Given the description of an element on the screen output the (x, y) to click on. 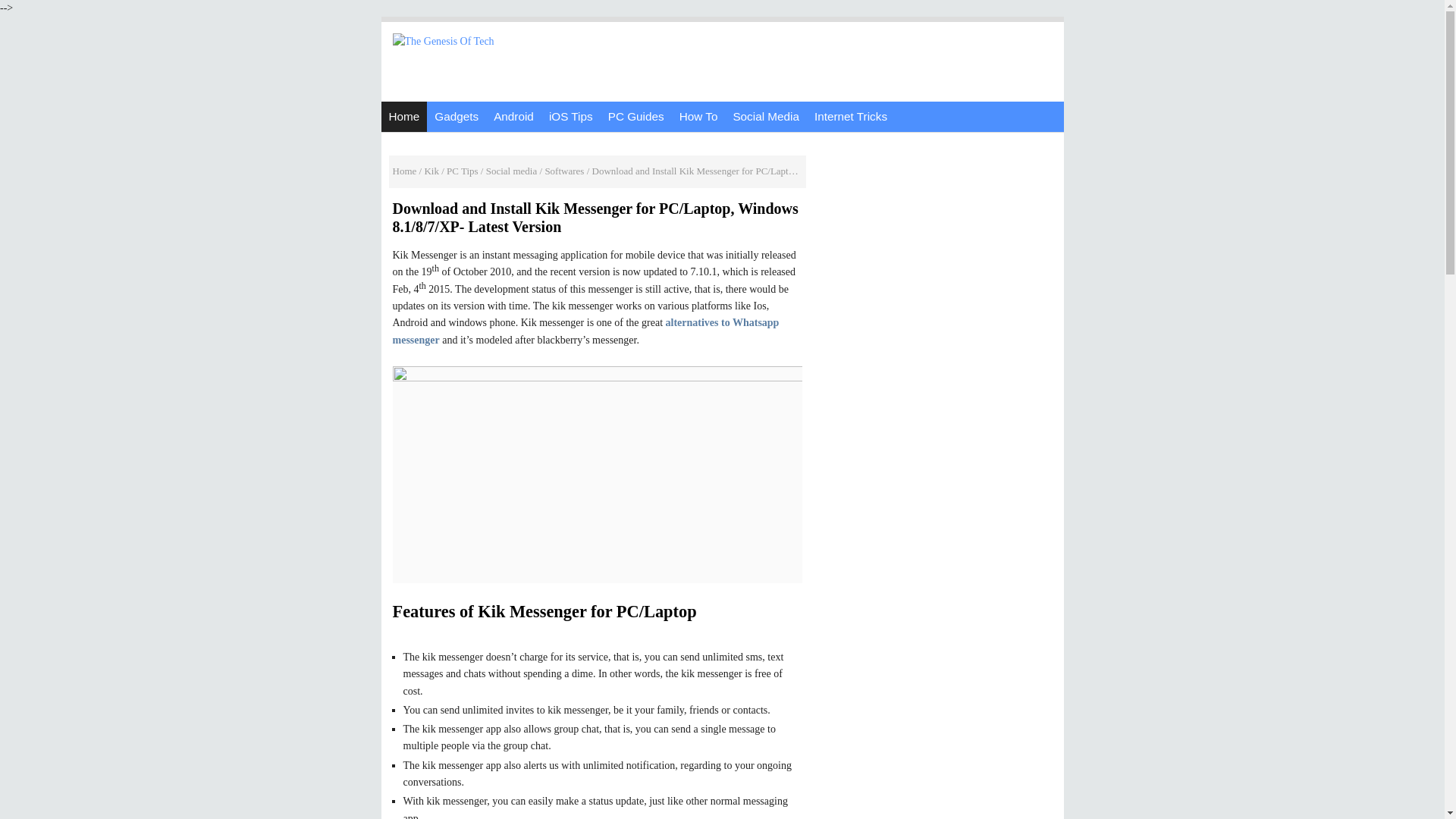
Android (513, 116)
PC Tips (462, 170)
Home (403, 116)
Gadgets (456, 116)
idevice (570, 116)
gadget (456, 116)
Softwares (563, 170)
fbt (850, 116)
How To (698, 116)
Home (404, 170)
